Given the description of an element on the screen output the (x, y) to click on. 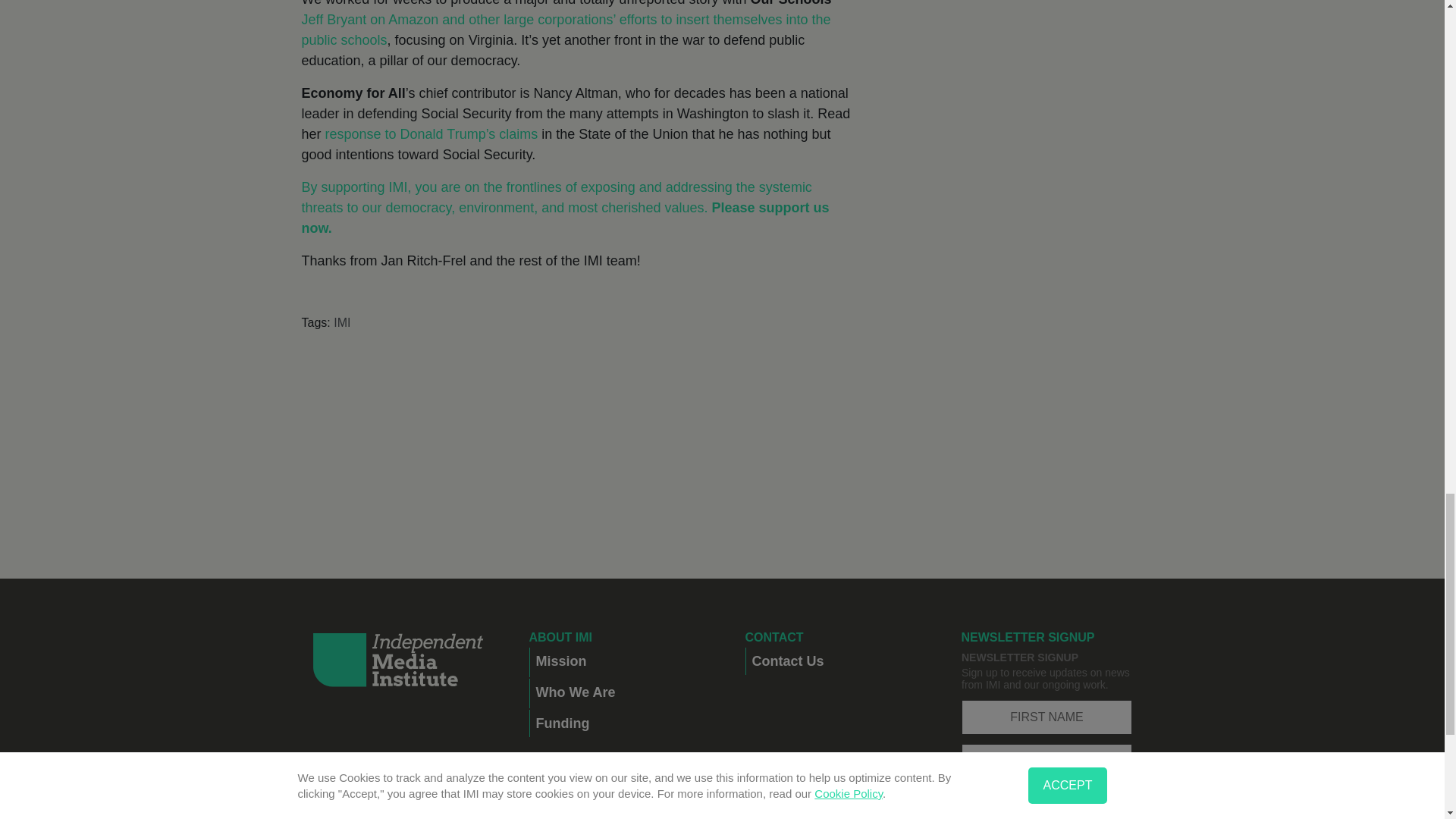
Funding (616, 723)
IMI (341, 322)
Who We Are (616, 691)
Contact Us (833, 660)
Mission (616, 660)
